Given the description of an element on the screen output the (x, y) to click on. 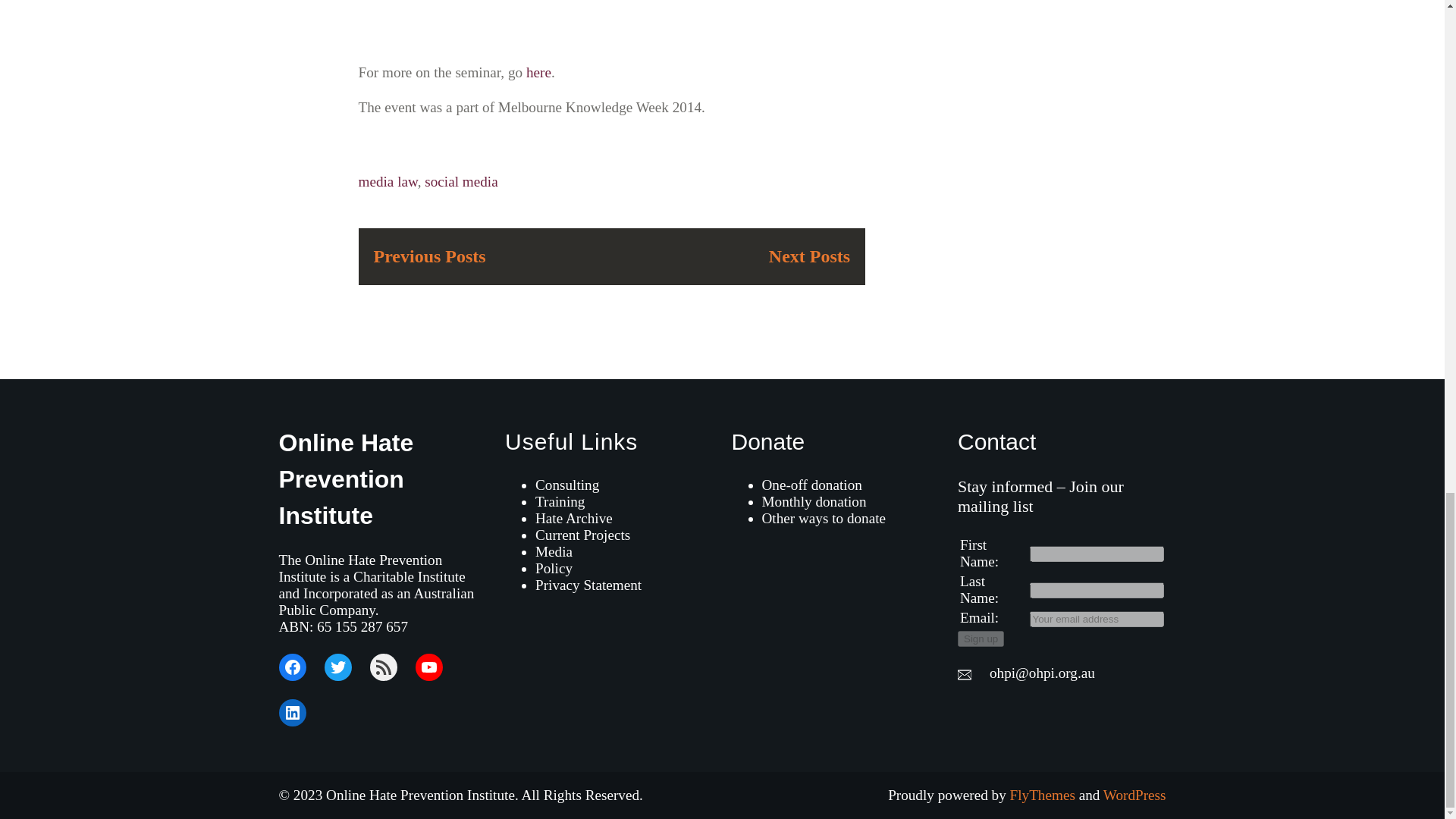
Sign up (981, 638)
